Given the description of an element on the screen output the (x, y) to click on. 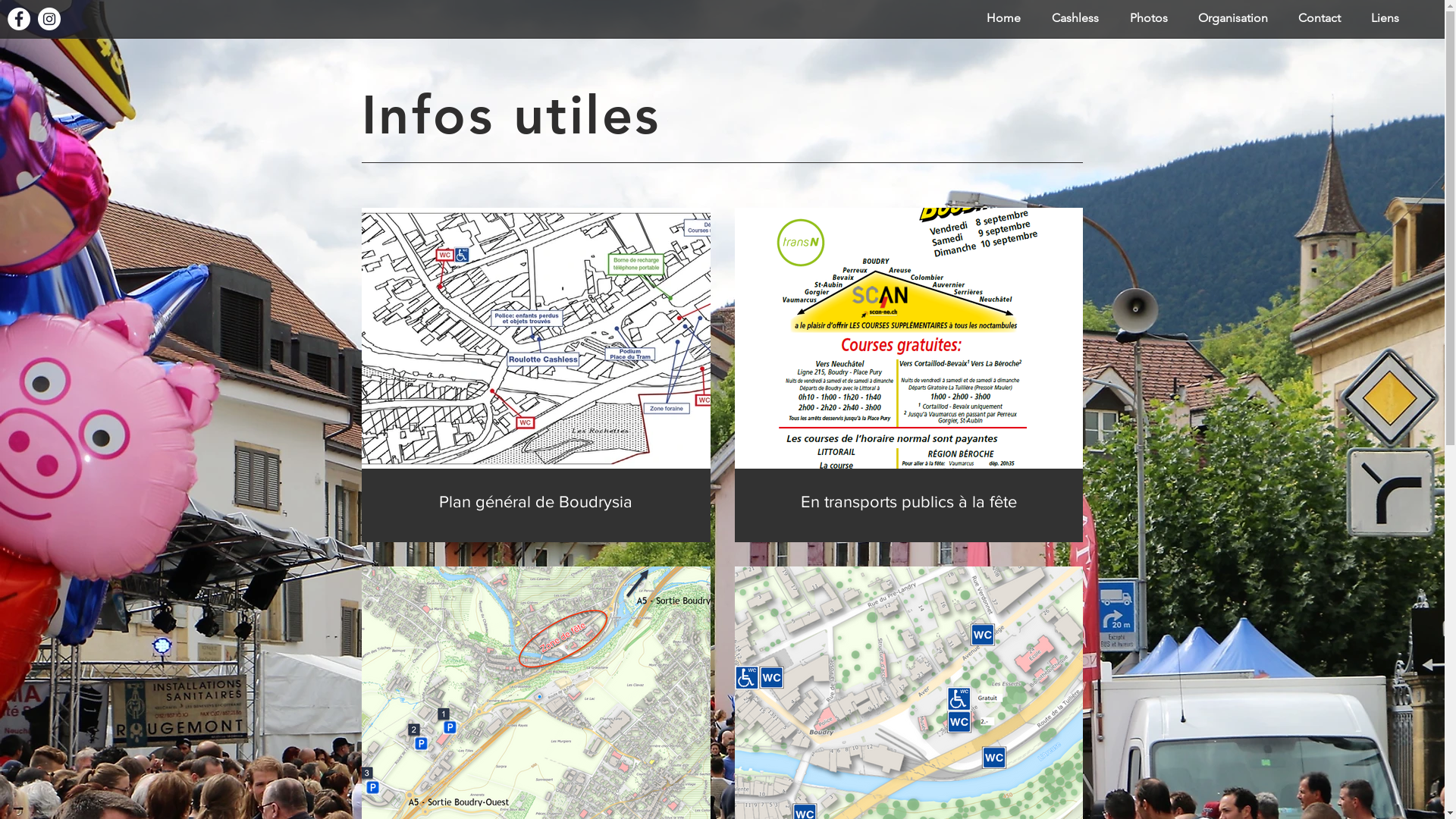
Home Element type: text (1002, 17)
Cashless Element type: text (1074, 17)
Liens Element type: text (1384, 17)
Contact Element type: text (1319, 17)
Photos Element type: text (1148, 17)
Organisation Element type: text (1233, 17)
